Given the description of an element on the screen output the (x, y) to click on. 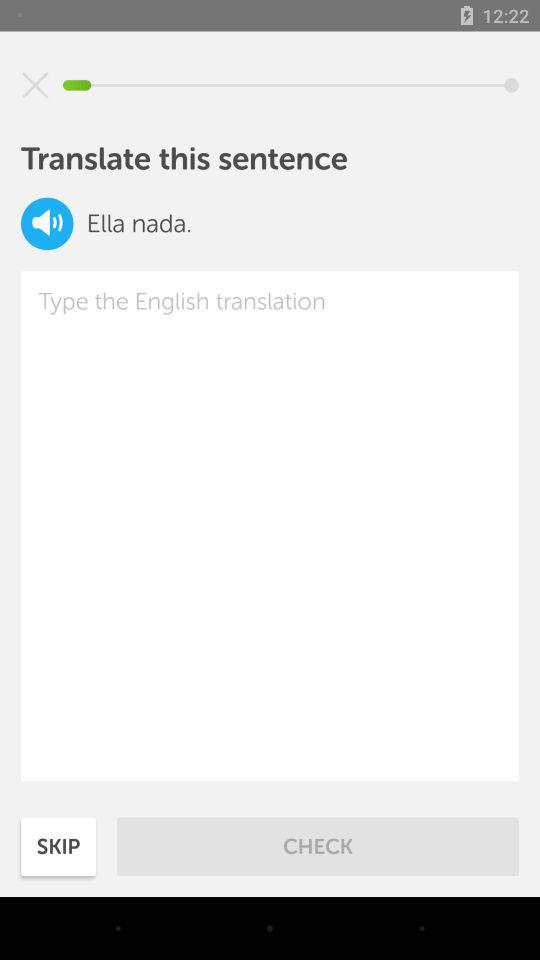
turn on icon next to skip item (318, 846)
